Given the description of an element on the screen output the (x, y) to click on. 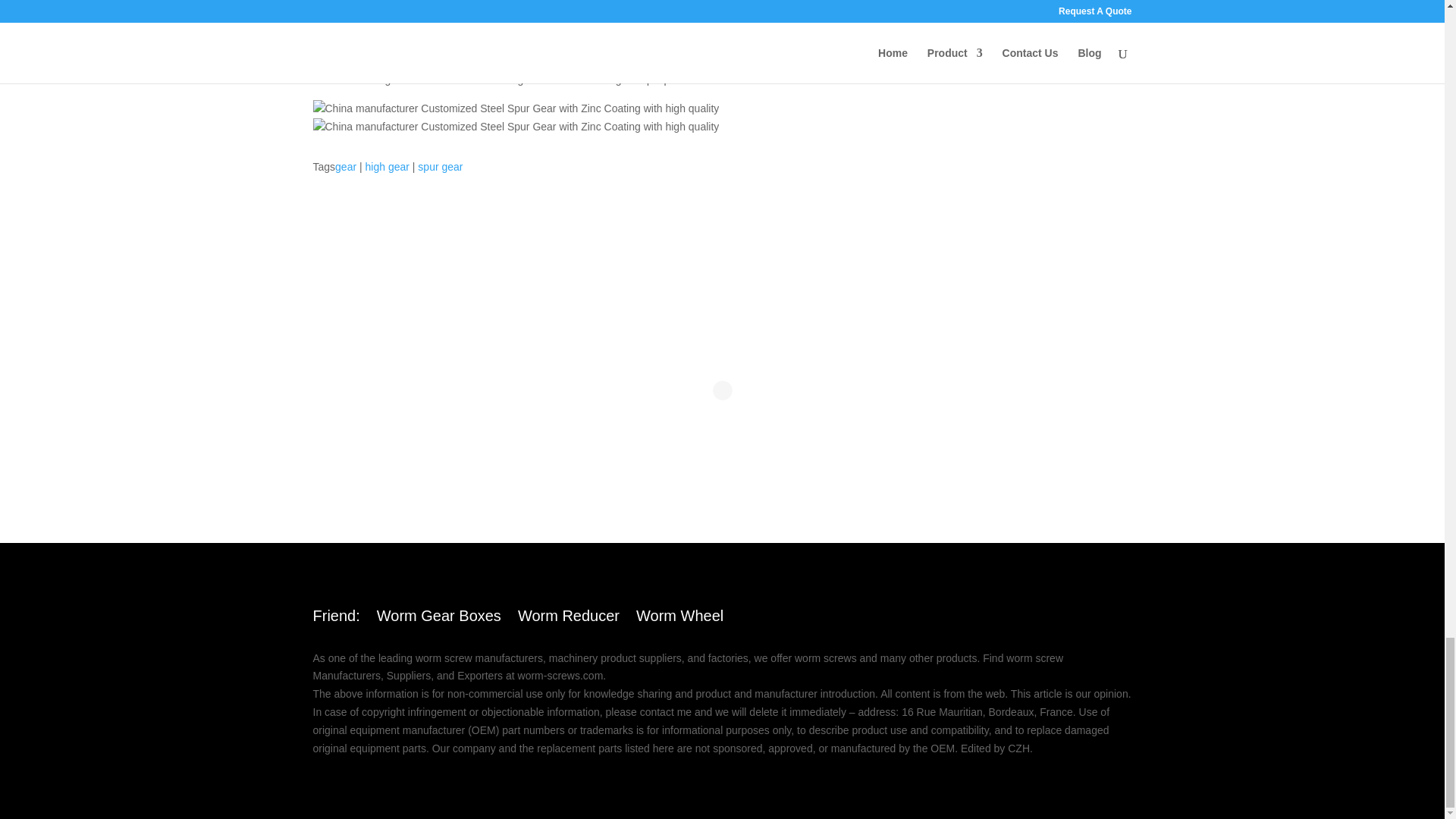
spur gear (440, 166)
gear (345, 166)
high gear (387, 166)
